Given the description of an element on the screen output the (x, y) to click on. 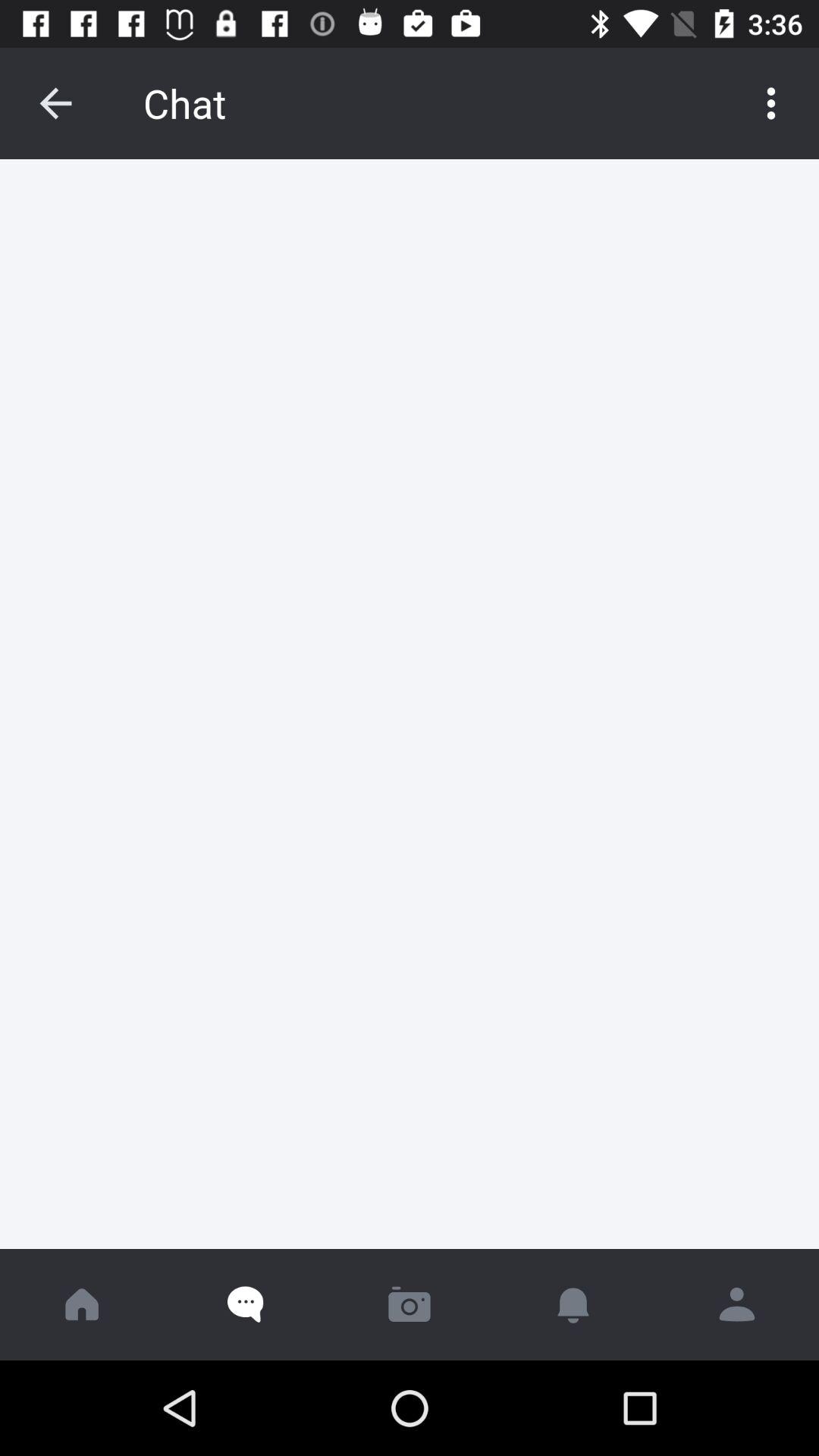
take photo (409, 1304)
